Given the description of an element on the screen output the (x, y) to click on. 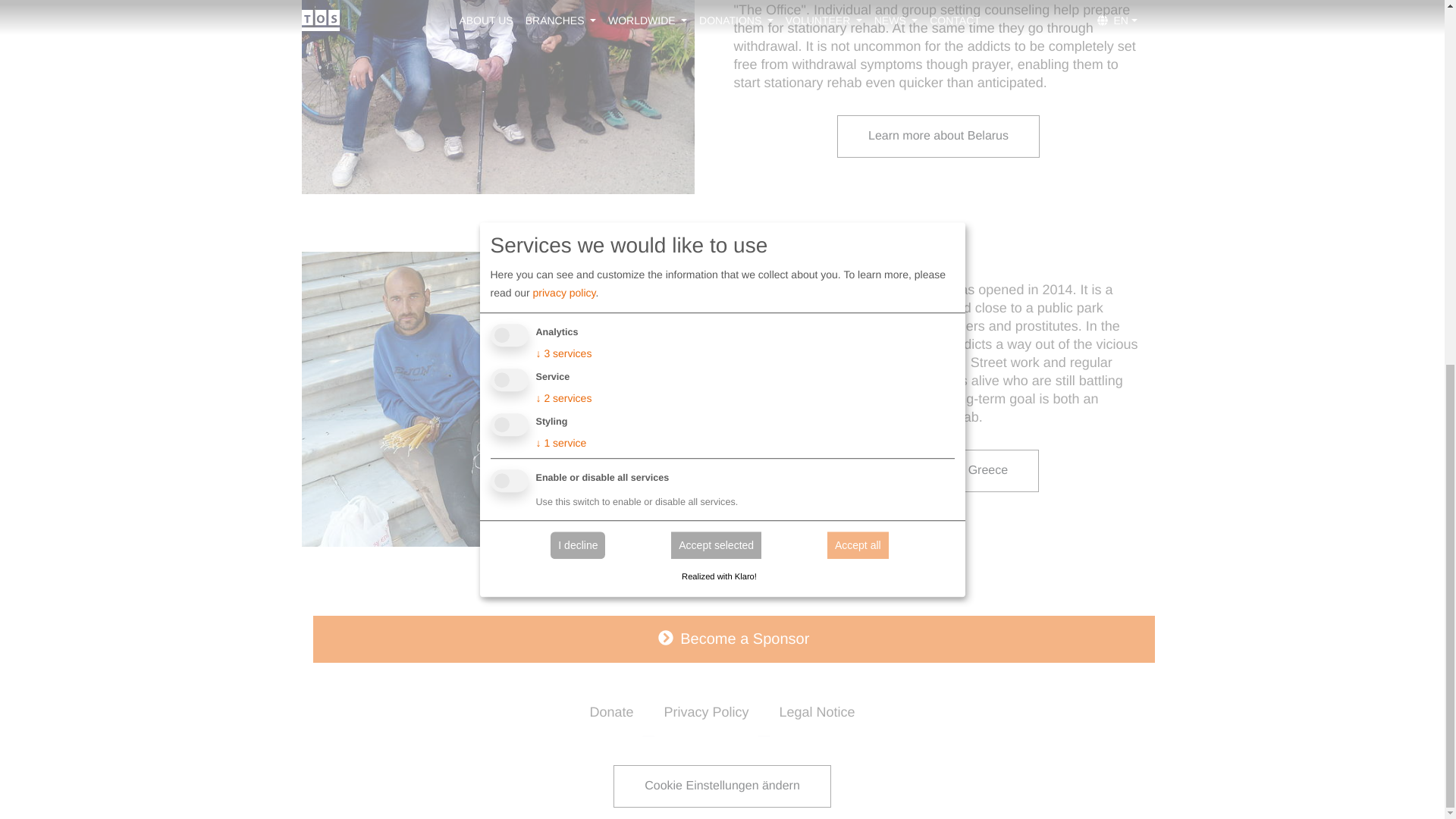
Get some background information on Greece (938, 470)
Donate (610, 711)
This is how you become a sponsor (733, 638)
Privacy Policy (704, 711)
Get some background information on Belarus (938, 136)
Legal Notice (817, 711)
